Given the description of an element on the screen output the (x, y) to click on. 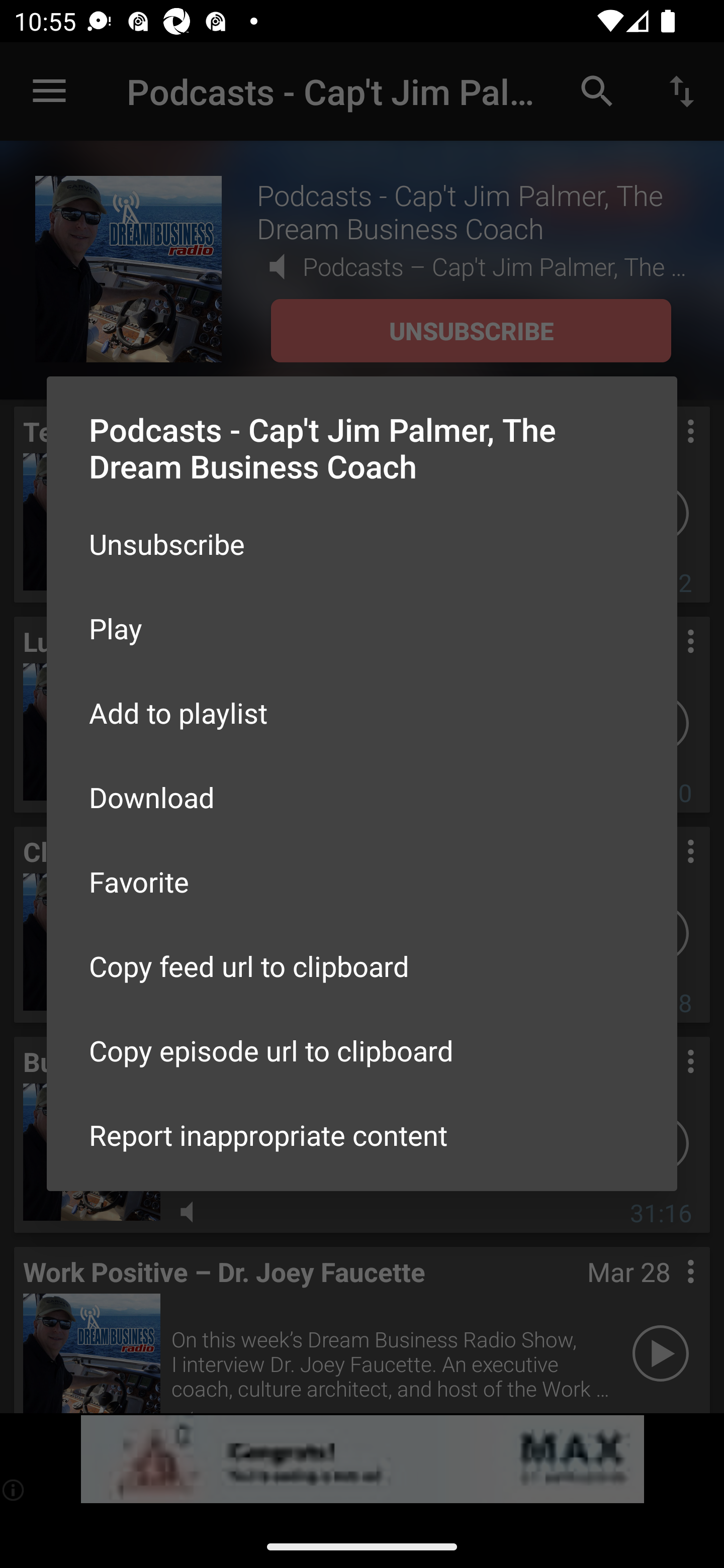
Unsubscribe (361, 543)
Play (361, 628)
Add to playlist (361, 712)
Download (361, 796)
Favorite (361, 880)
Copy feed url to clipboard (361, 965)
Copy episode url to clipboard (361, 1050)
Report inappropriate content (361, 1134)
